Given the description of an element on the screen output the (x, y) to click on. 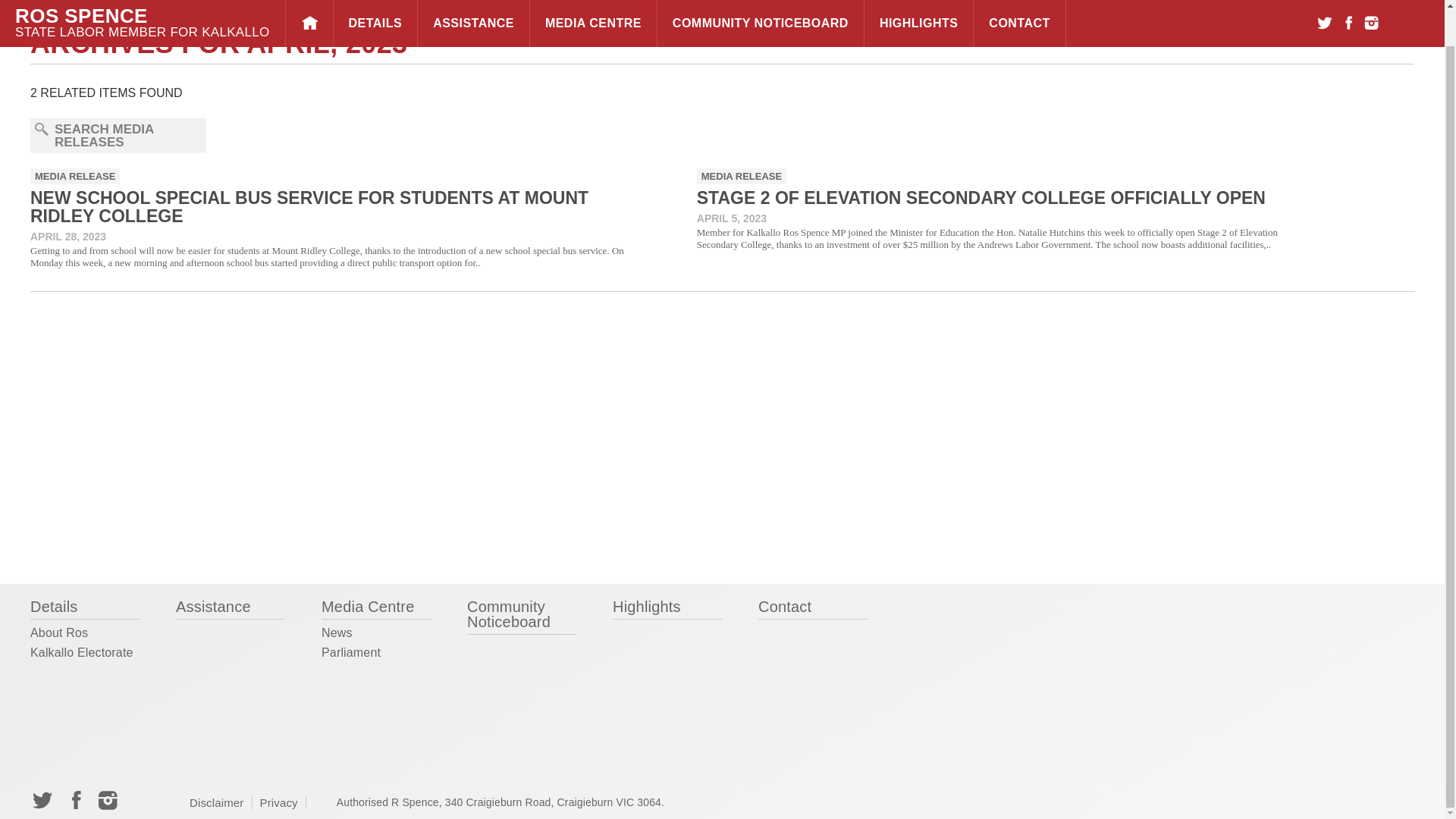
DETAILS (375, 4)
COMMUNITY NOTICEBOARD (760, 4)
HIGHLIGHTS (918, 4)
MEDIA CENTRE (592, 4)
ASSISTANCE (473, 4)
HOME (309, 4)
CONTACT (1019, 4)
